Given the description of an element on the screen output the (x, y) to click on. 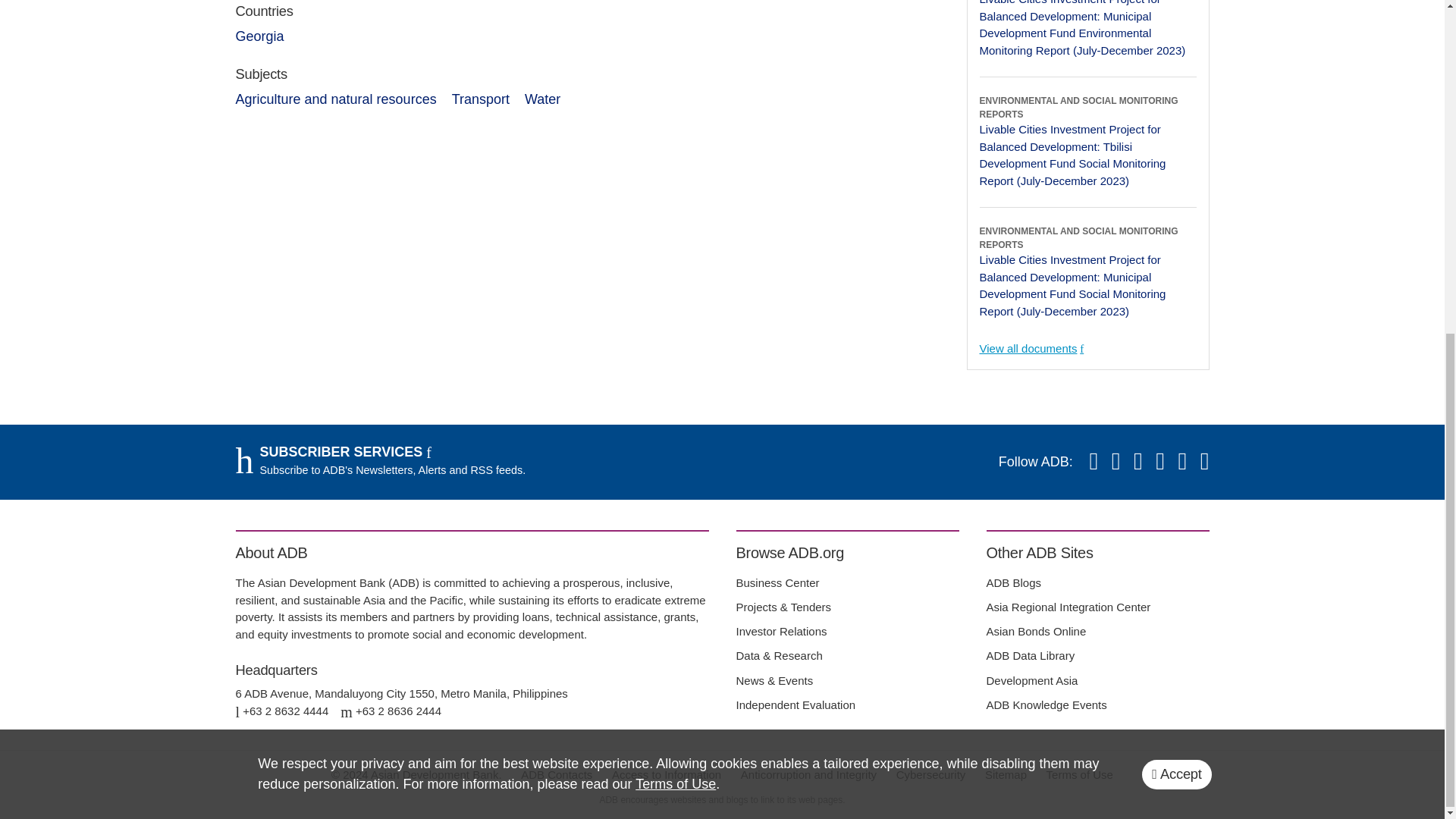
Follow us on Instagram (1182, 462)
Find us on Facebook (1137, 462)
Subscribe to our Youtube Channel (1115, 462)
Follow us on Flickr (1159, 462)
Follow us on LinkedIn (1204, 462)
